Given the description of an element on the screen output the (x, y) to click on. 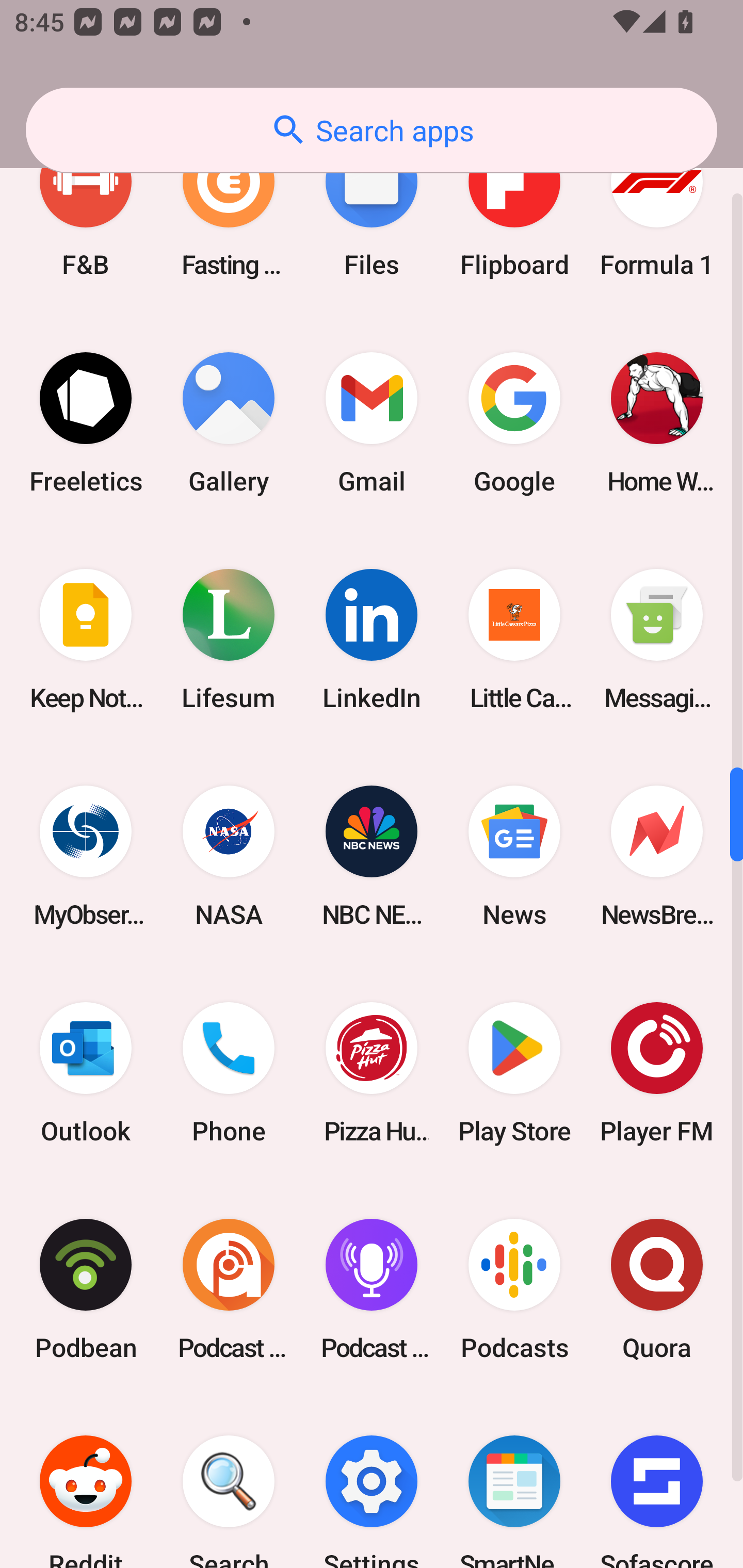
  Search apps (371, 130)
F&B (85, 209)
Fasting Coach (228, 209)
Files (371, 209)
Flipboard (514, 209)
Formula 1 (656, 209)
Freeletics (85, 423)
Gallery (228, 423)
Gmail (371, 423)
Google (514, 423)
Home Workout (656, 423)
Keep Notes (85, 639)
Lifesum (228, 639)
LinkedIn (371, 639)
Little Caesars Pizza (514, 639)
Messaging (656, 639)
MyObservatory (85, 855)
NASA (228, 855)
NBC NEWS (371, 855)
News (514, 855)
NewsBreak (656, 855)
Outlook (85, 1072)
Phone (228, 1072)
Pizza Hut HK & Macau (371, 1072)
Play Store (514, 1072)
Player FM (656, 1072)
Podbean (85, 1288)
Podcast Addict (228, 1288)
Podcast Player (371, 1288)
Podcasts (514, 1288)
Quora (656, 1288)
Reddit (85, 1482)
Search (228, 1482)
Settings (371, 1482)
SmartNews (514, 1482)
Sofascore (656, 1482)
